Given the description of an element on the screen output the (x, y) to click on. 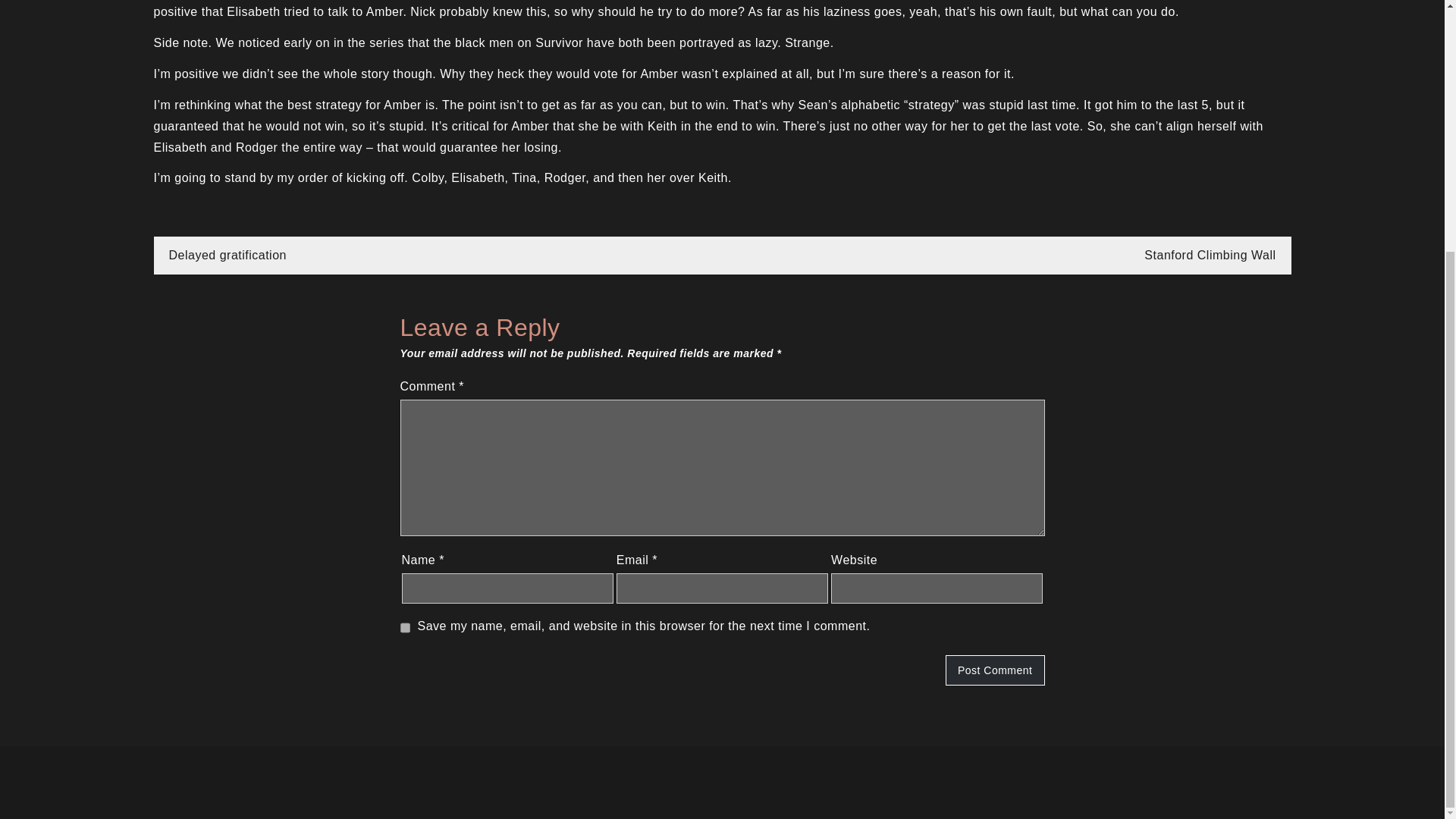
Delayed gratification (226, 254)
Stanford Climbing Wall (1209, 254)
Post Comment (994, 670)
Post Comment (994, 670)
